Given the description of an element on the screen output the (x, y) to click on. 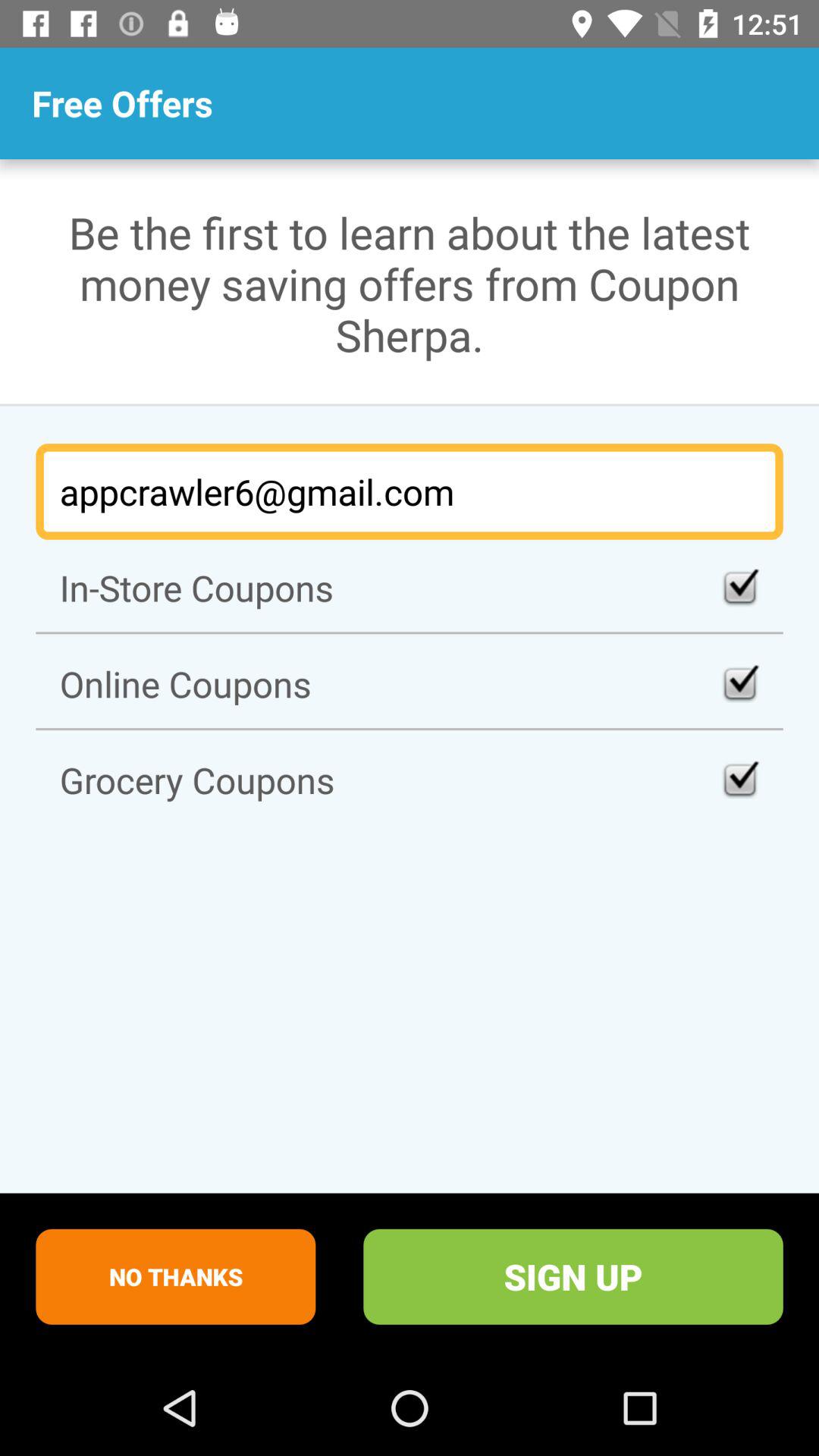
press the icon next to the no thanks (573, 1276)
